Given the description of an element on the screen output the (x, y) to click on. 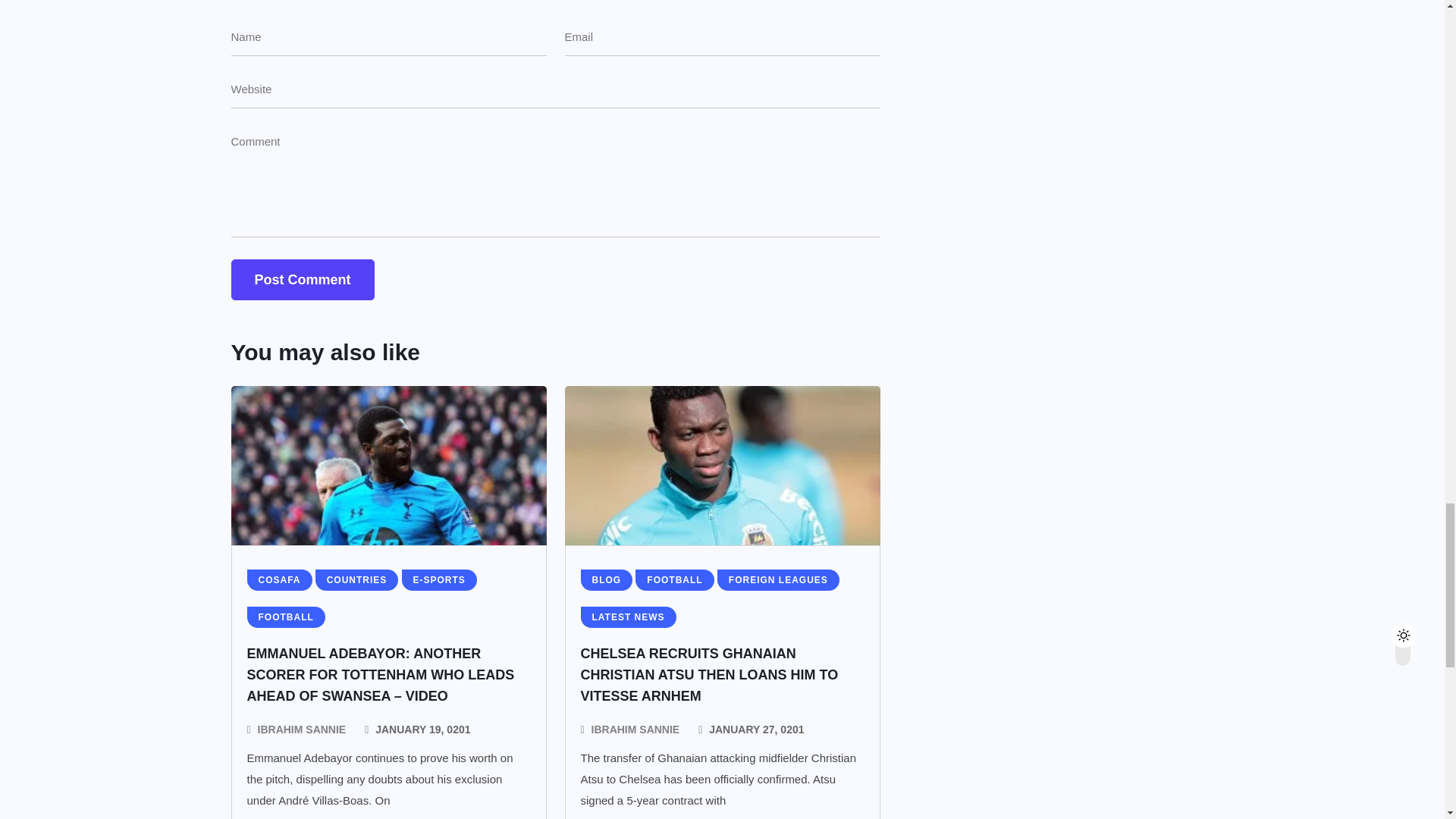
Post Comment (302, 279)
aderage-300x159 - AfricaSoccer.com (388, 465)
